Given the description of an element on the screen output the (x, y) to click on. 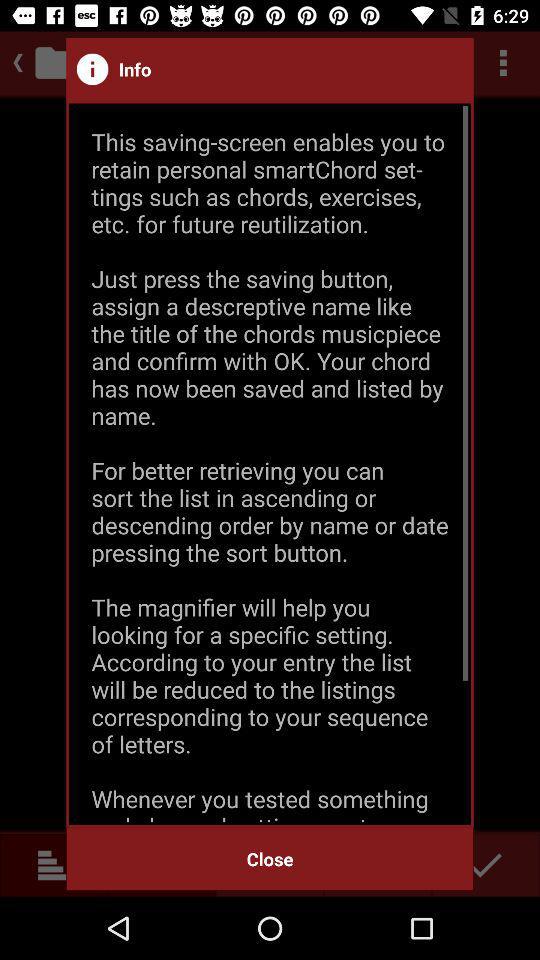
swipe to the this saving screen icon (269, 464)
